Given the description of an element on the screen output the (x, y) to click on. 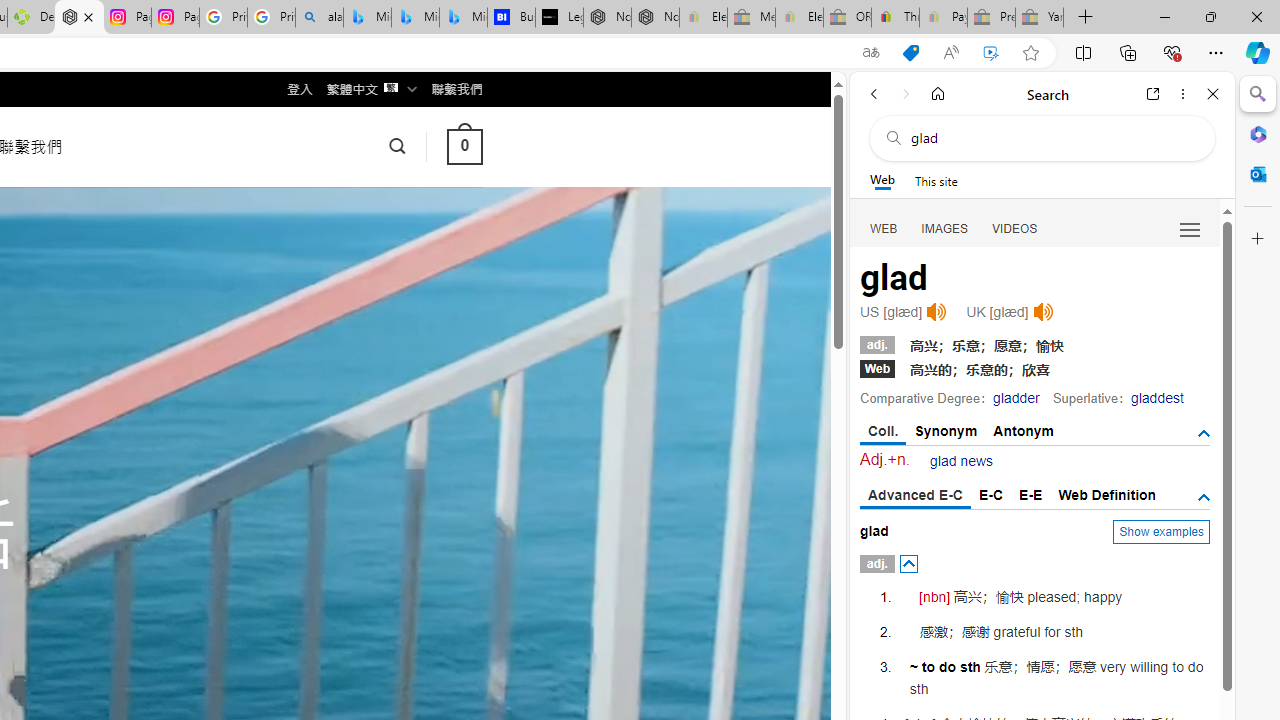
Preferences (1189, 228)
IMAGES (944, 228)
This site scope (936, 180)
